Given the description of an element on the screen output the (x, y) to click on. 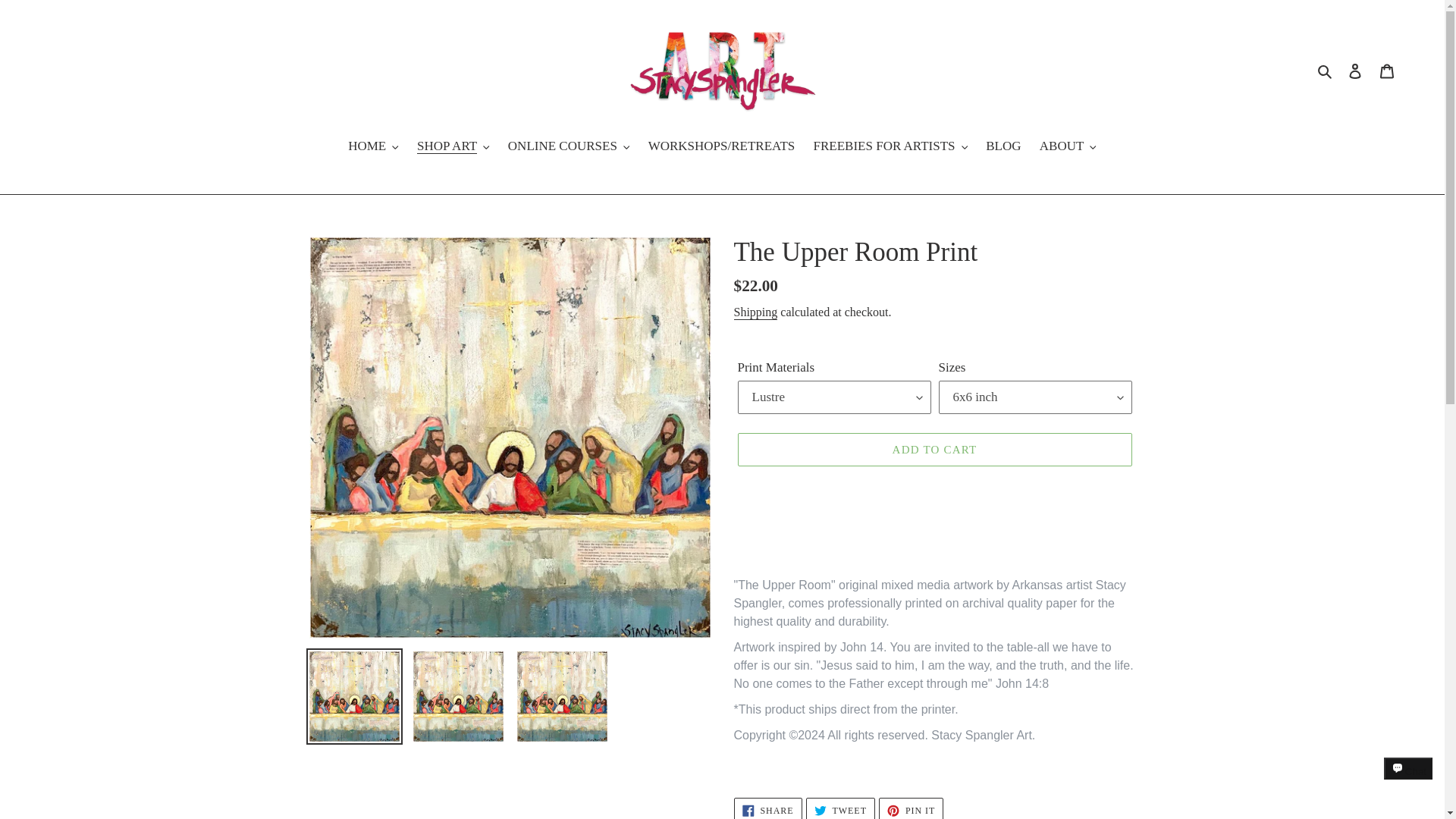
Shopify online store chat (1408, 781)
Log in (1355, 70)
Cart (1387, 70)
Search (1326, 70)
